Given the description of an element on the screen output the (x, y) to click on. 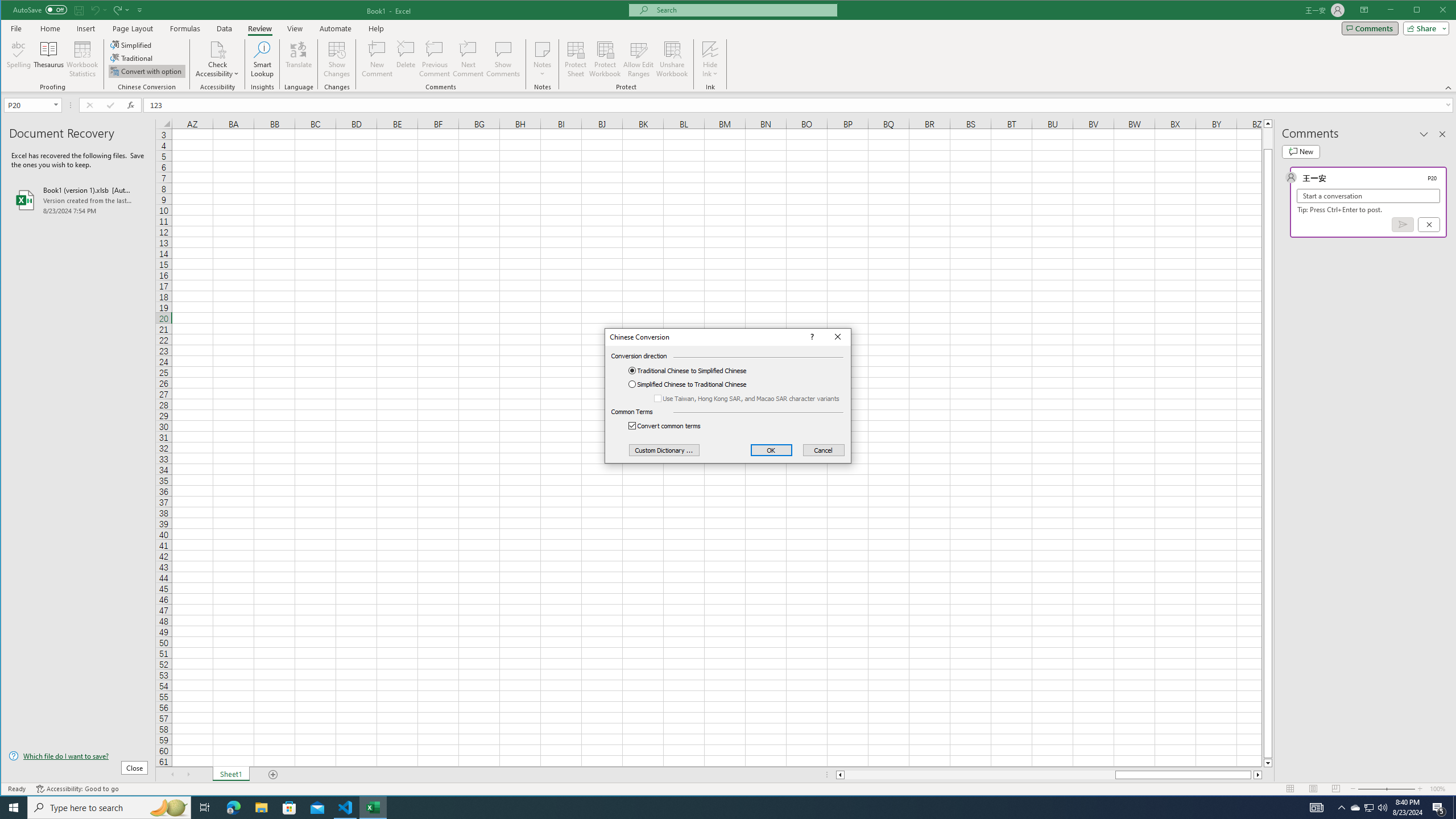
Microsoft Store (289, 807)
Traditional Chinese to Simplified Chinese (696, 370)
Q2790: 100% (1382, 807)
Workbook Statistics (82, 59)
Next Comment (467, 59)
Book1 (version 1).xlsb  [AutoRecovered] (1368, 807)
Visual Studio Code - 1 running window (78, 199)
